Given the description of an element on the screen output the (x, y) to click on. 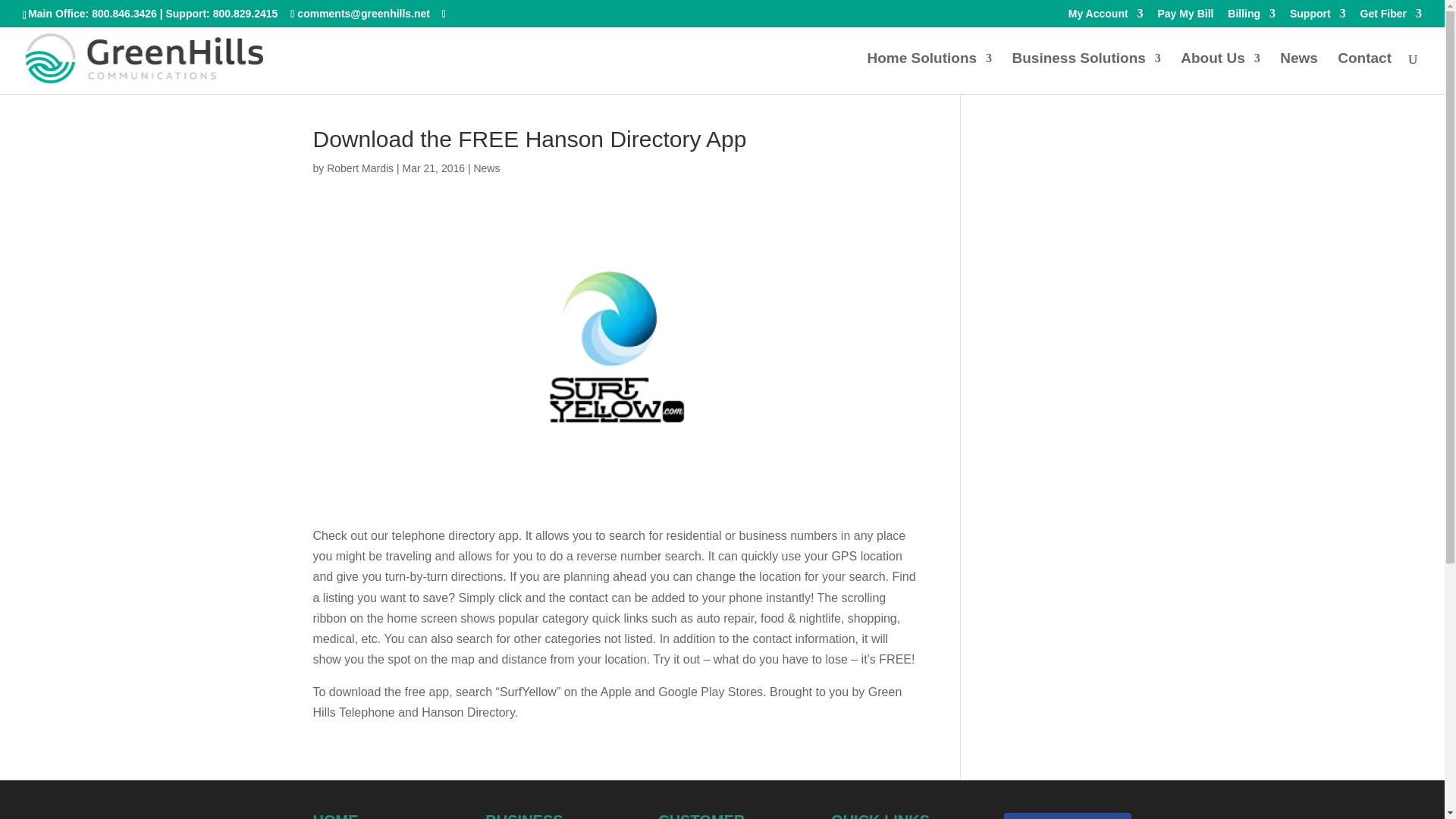
Get Fiber (1390, 16)
Pay My Bill (1184, 16)
Business Solutions (1085, 73)
My Account (1105, 16)
Home Solutions (928, 73)
Billing (1251, 16)
Support (1317, 16)
Posts by Robert Mardis (359, 168)
